Given the description of an element on the screen output the (x, y) to click on. 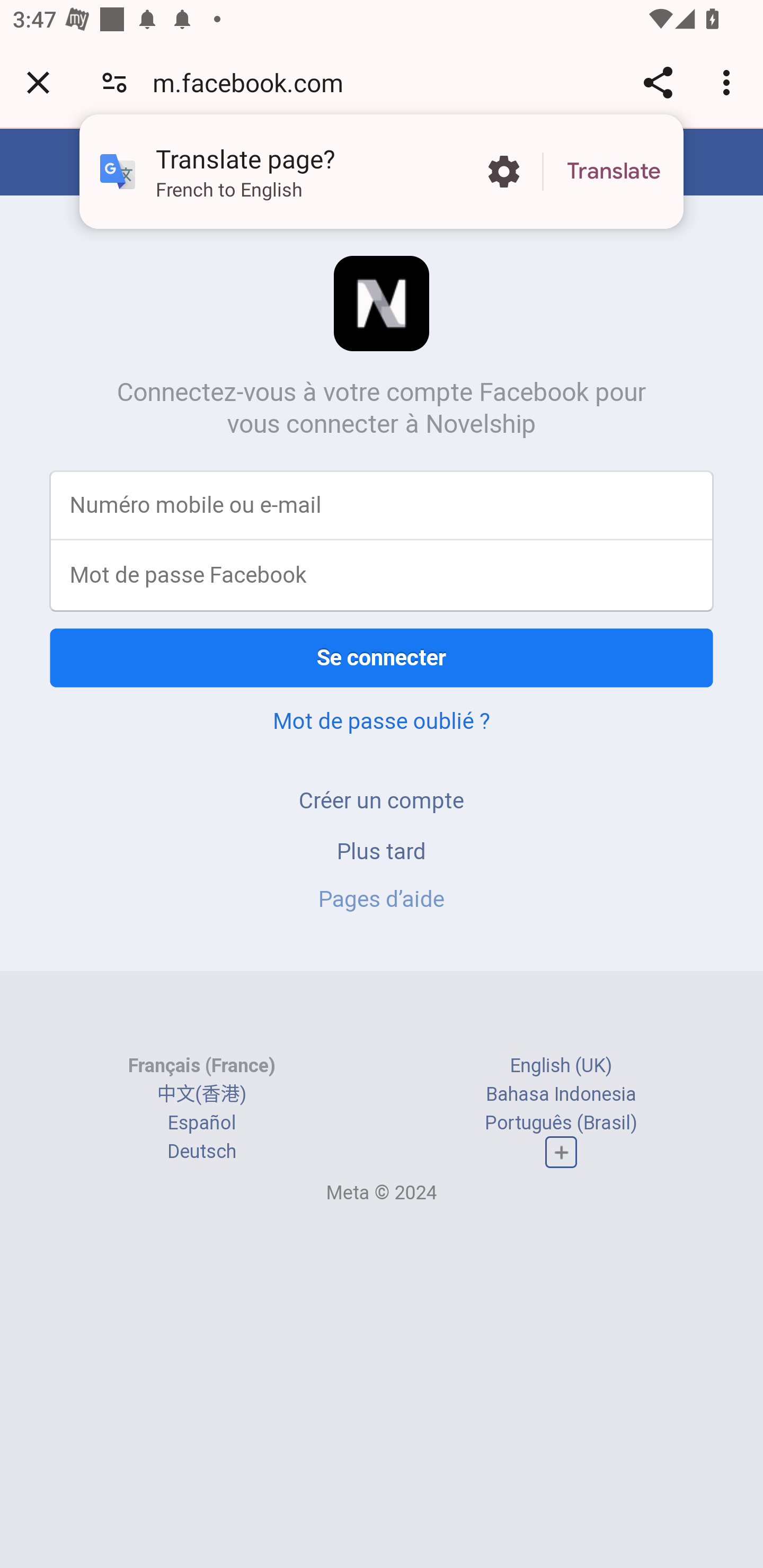
Close tab (38, 82)
Share (657, 82)
Customize and control Google Chrome (729, 82)
Connection is secure (114, 81)
m.facebook.com (254, 81)
Translate (613, 171)
More options in the Translate page? (503, 171)
Se connecter (381, 657)
Mot de passe oublié ? (381, 720)
Créer un compte (381, 800)
Plus tard (381, 850)
Pages d’aide (381, 898)
English (UK) (560, 1065)
中文(香港) (201, 1093)
Bahasa Indonesia (560, 1093)
Español (201, 1122)
Português (Brasil) (560, 1122)
Liste complète des langues (560, 1152)
Deutsch (201, 1151)
